Given the description of an element on the screen output the (x, y) to click on. 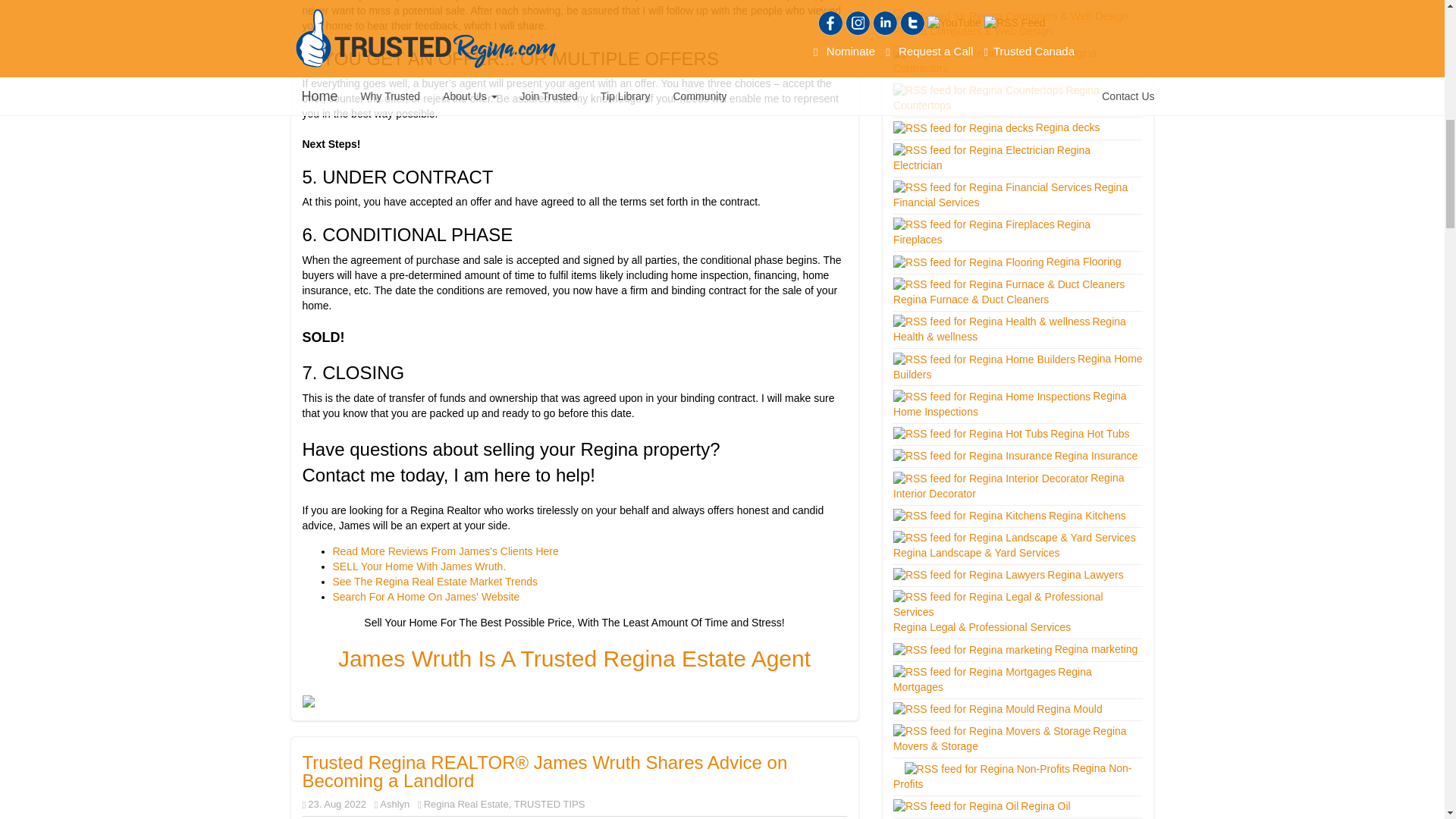
SELL Your Home With James Wruth.  (419, 566)
Read More Reviews From James's Clients Here  (445, 551)
Search For A Home On James' Website  (426, 596)
See The Regina Real Estate Market Trends (434, 581)
Ashlyn (394, 803)
Regina Real Estate (465, 803)
James Wruth Is A Trusted Regina Estate Agent (573, 658)
